Given the description of an element on the screen output the (x, y) to click on. 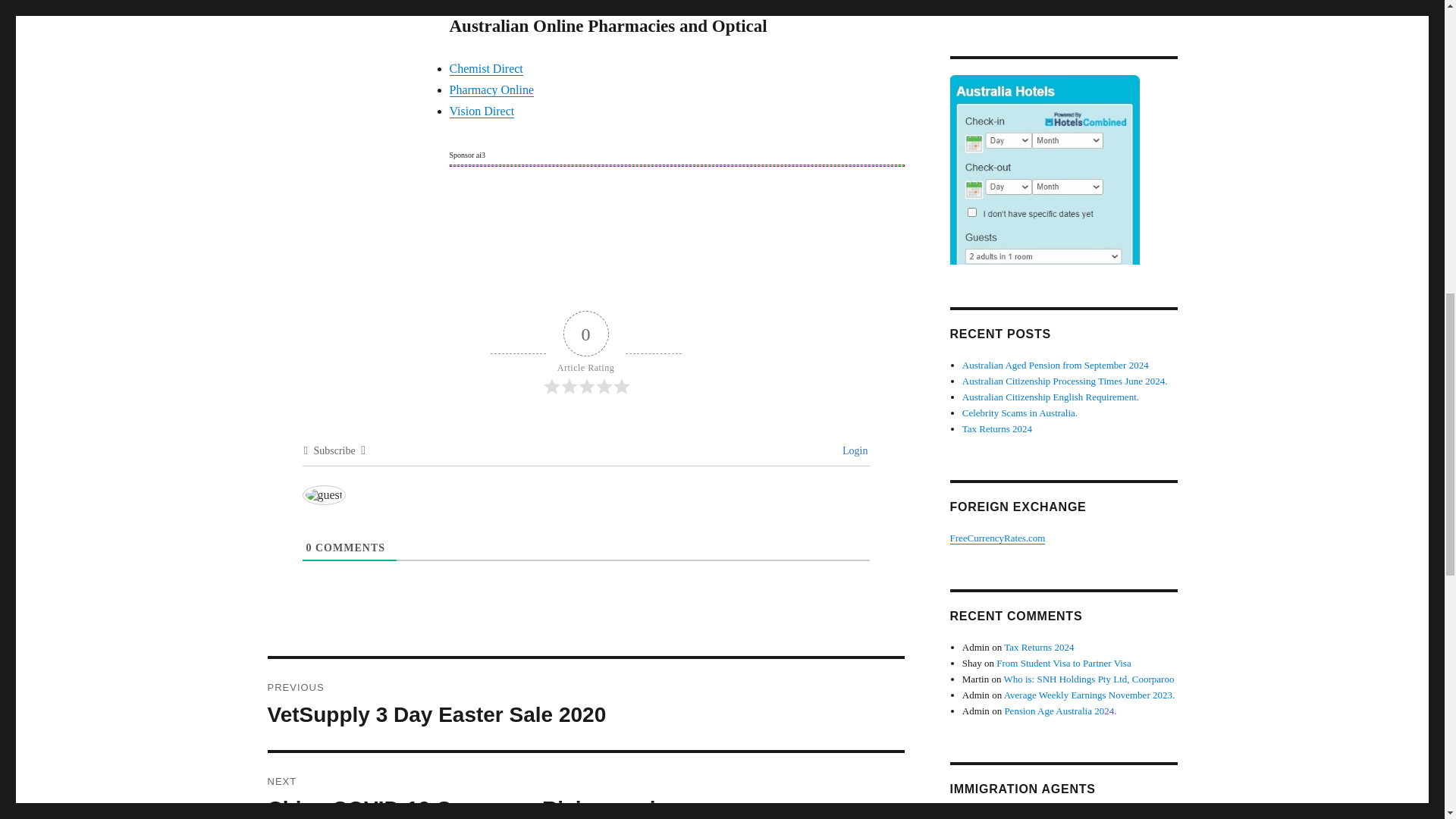
pharmacyonline.com.au (491, 89)
chemistdirect.com.au (485, 68)
visiondirect.com.au (480, 110)
